Given the description of an element on the screen output the (x, y) to click on. 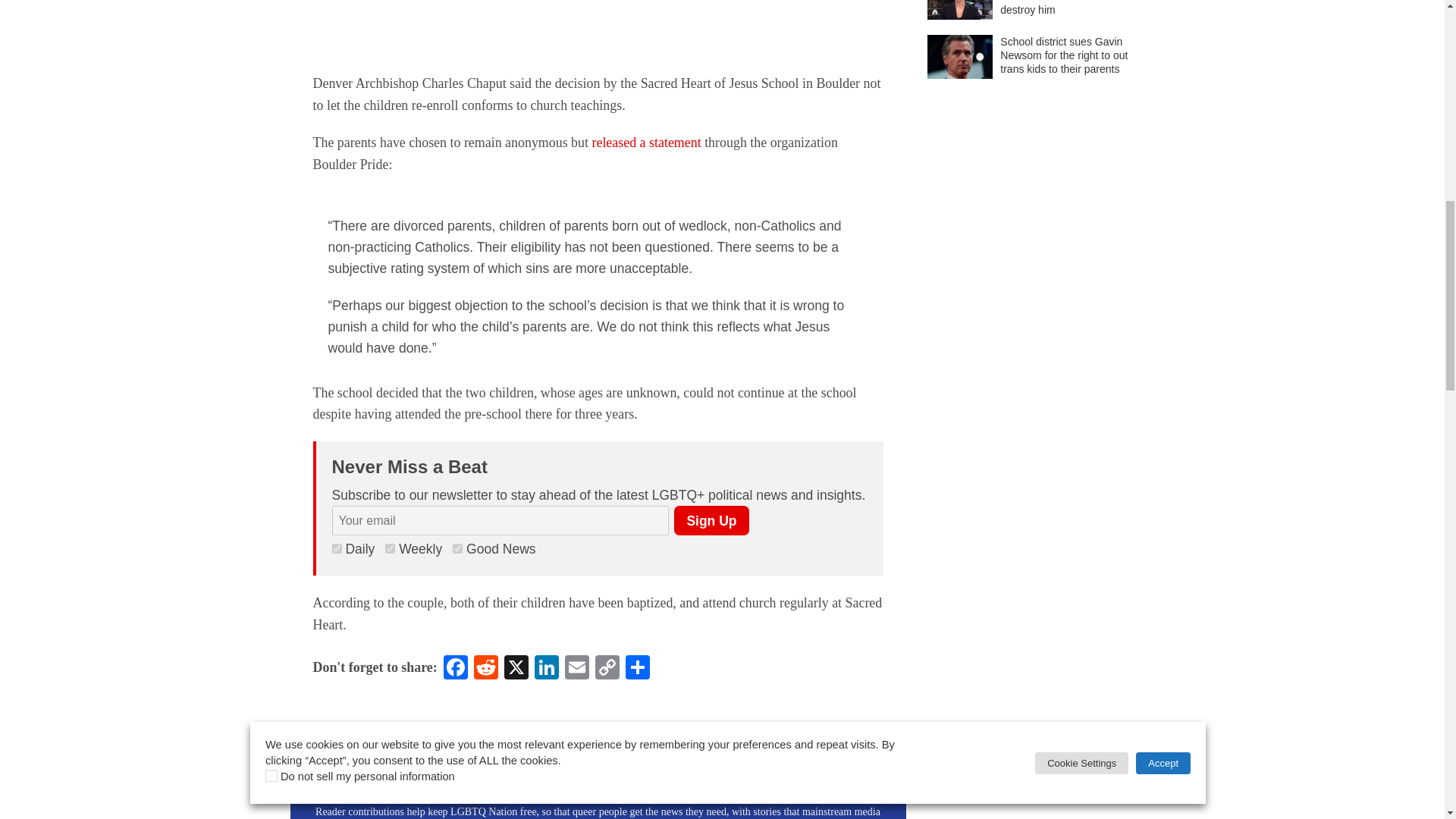
Copy Link (607, 669)
LinkedIn (546, 669)
Email (577, 669)
released a statement (645, 142)
1920884 (389, 548)
Copy Link (607, 669)
Email (577, 669)
1920883 (457, 548)
X (515, 669)
sacred-heart-school (597, 25)
Sign Up (711, 520)
Facebook (455, 669)
X (515, 669)
LinkedIn (546, 669)
Reddit (485, 669)
